Given the description of an element on the screen output the (x, y) to click on. 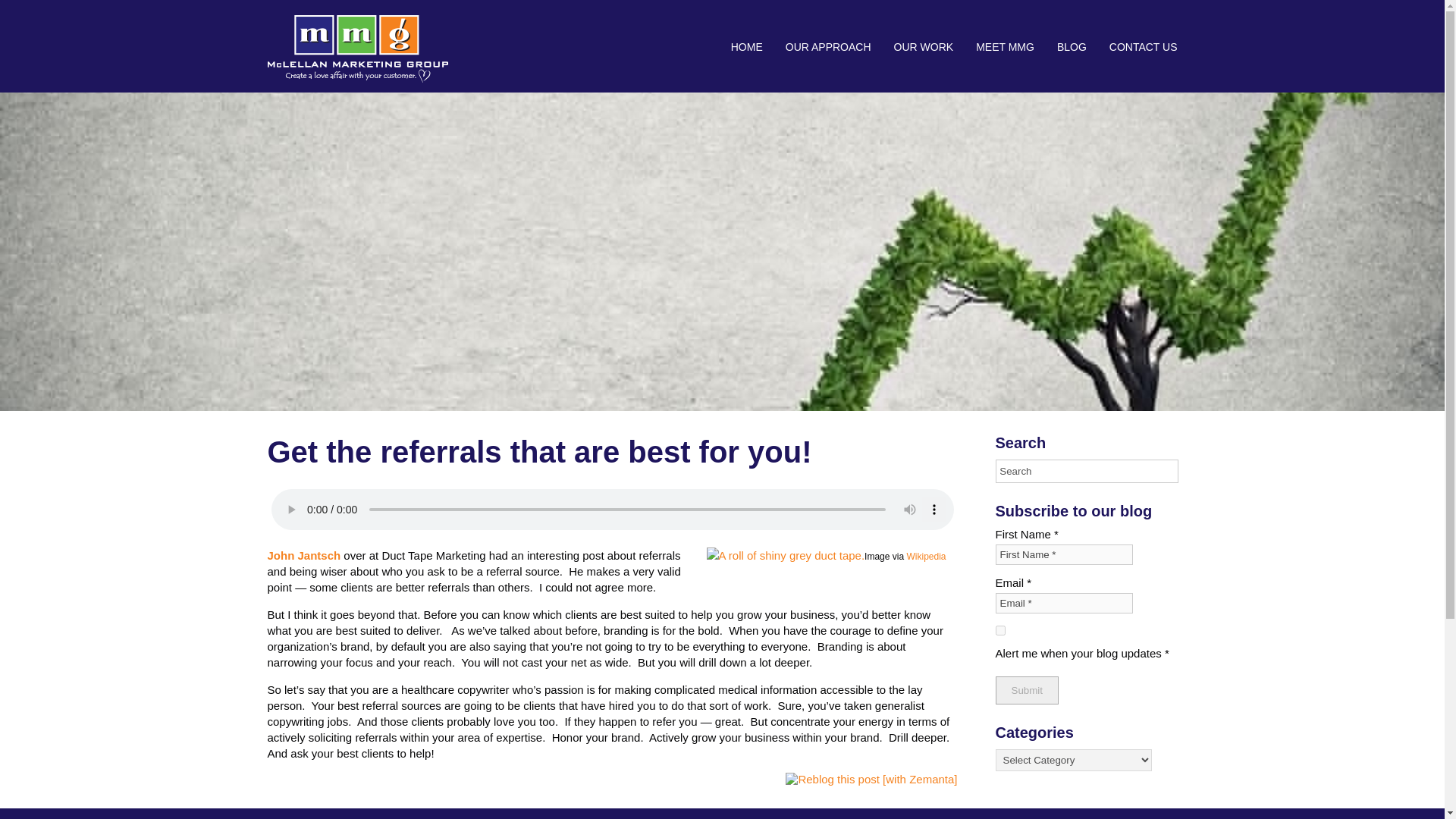
CONTACT US (1137, 46)
John Jantsch (303, 554)
OUR WORK (923, 46)
HOME (746, 46)
MEET MMG (1004, 46)
496 (999, 630)
Search (1085, 471)
